Given the description of an element on the screen output the (x, y) to click on. 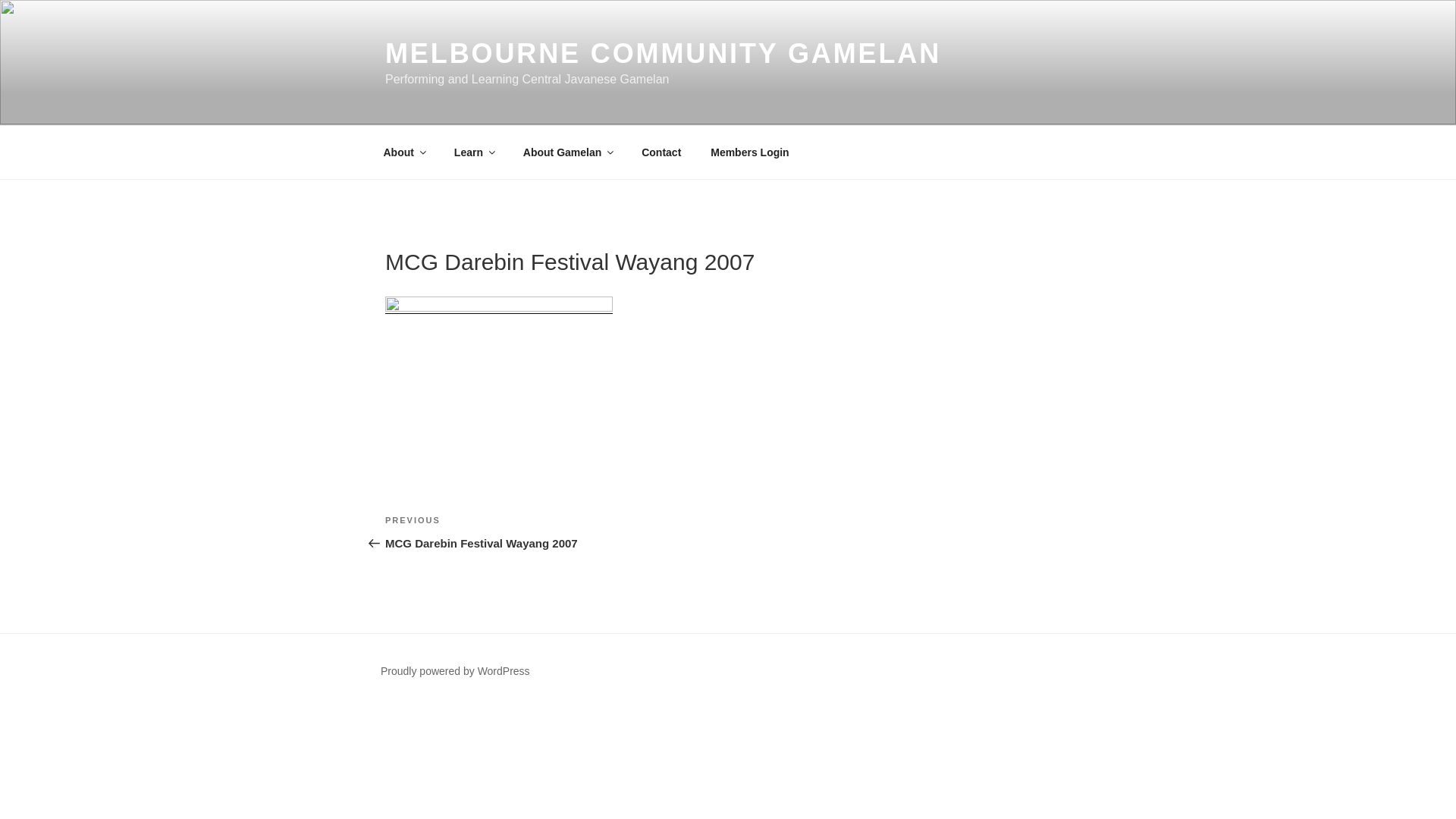
Members Login Element type: text (749, 151)
Previous Post
PREVIOUS
MCG Darebin Festival Wayang 2007 Element type: text (556, 532)
MELBOURNE COMMUNITY GAMELAN Element type: text (663, 53)
About Gamelan Element type: text (566, 151)
About Element type: text (403, 151)
Learn Element type: text (473, 151)
Proudly powered by WordPress Element type: text (455, 671)
Contact Element type: text (661, 151)
